Given the description of an element on the screen output the (x, y) to click on. 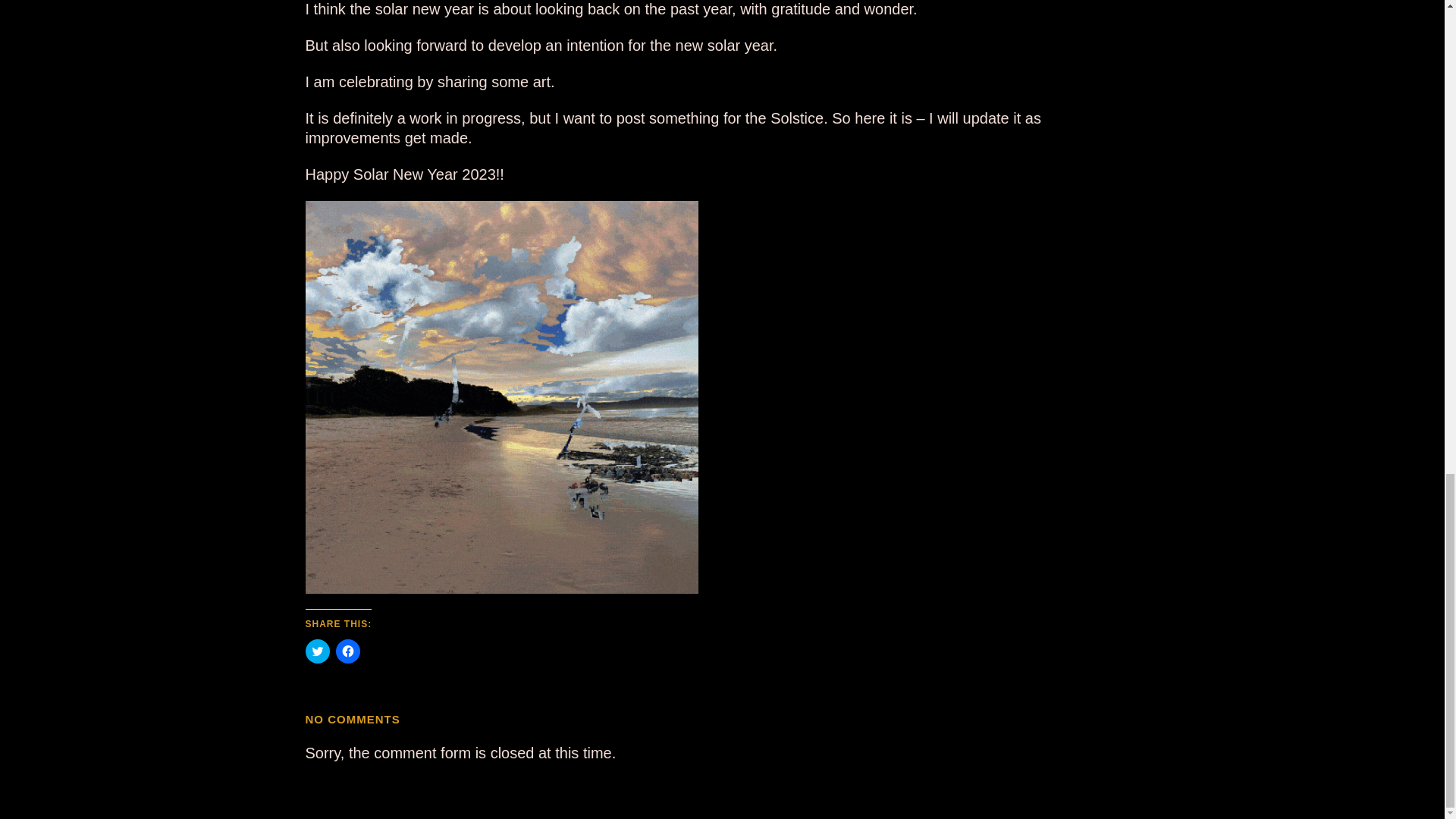
Click to share on Twitter (316, 651)
Click to share on Facebook (346, 651)
